Given the description of an element on the screen output the (x, y) to click on. 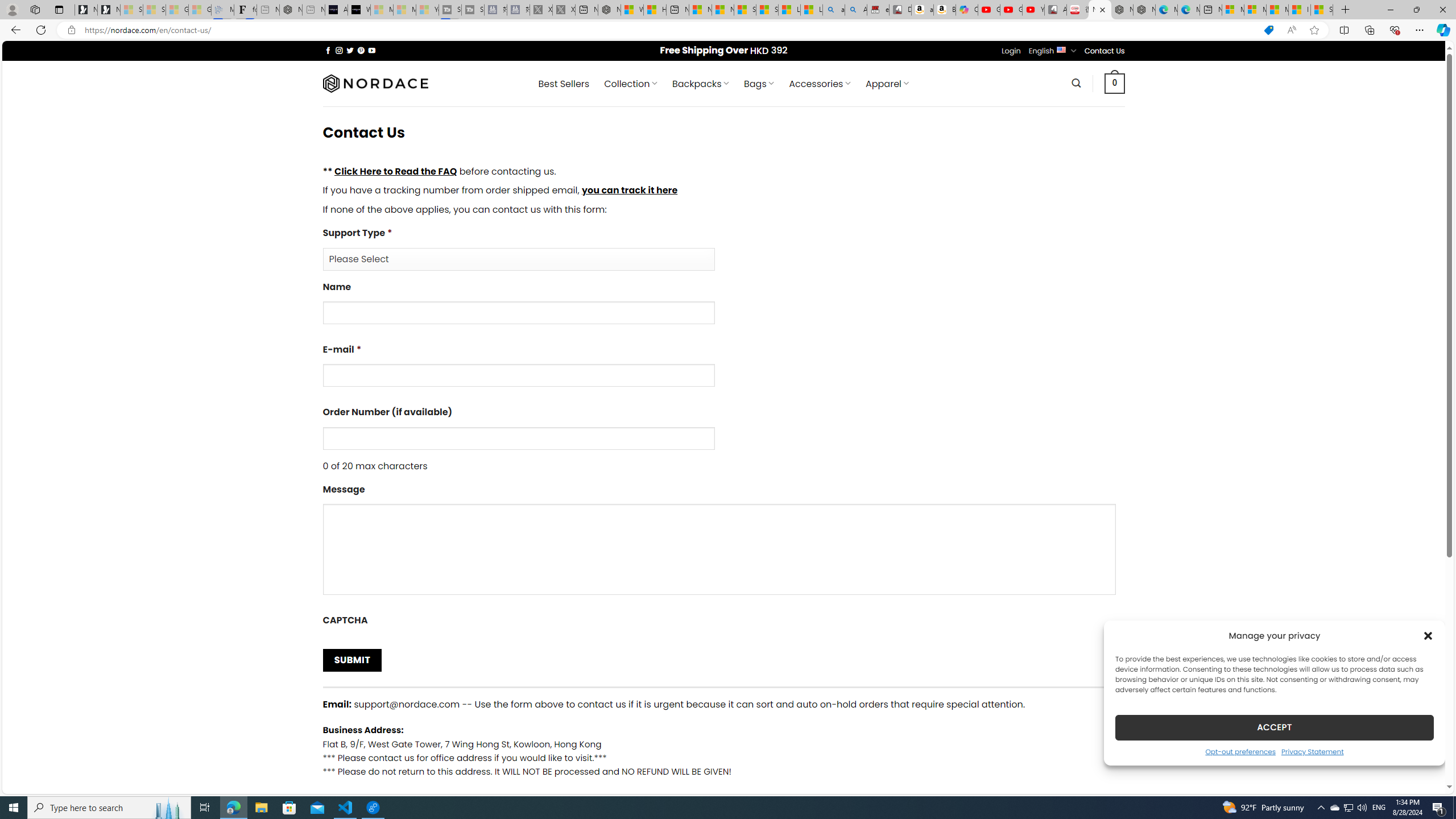
Nordace - #1 Japanese Best-Seller - Siena Smart Backpack (291, 9)
E-mail* (517, 375)
Follow on Twitter (349, 49)
Add this page to favorites (Ctrl+D) (1314, 29)
Microsoft Start (1276, 9)
Opt-out preferences (1240, 750)
Address and search bar (669, 29)
Search (1076, 83)
Support Type* (517, 259)
Follow on Pinterest (360, 49)
